Given the description of an element on the screen output the (x, y) to click on. 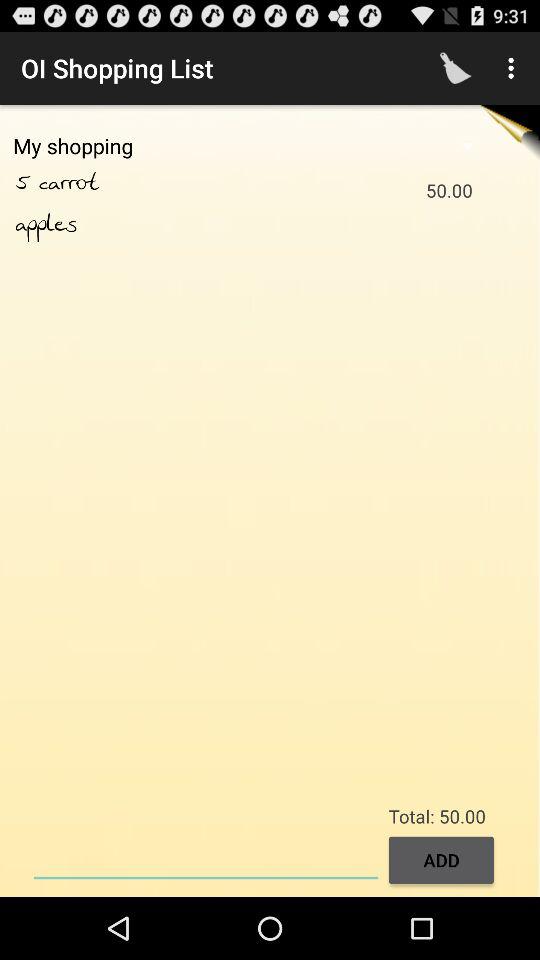
choose the apples (45, 224)
